Given the description of an element on the screen output the (x, y) to click on. 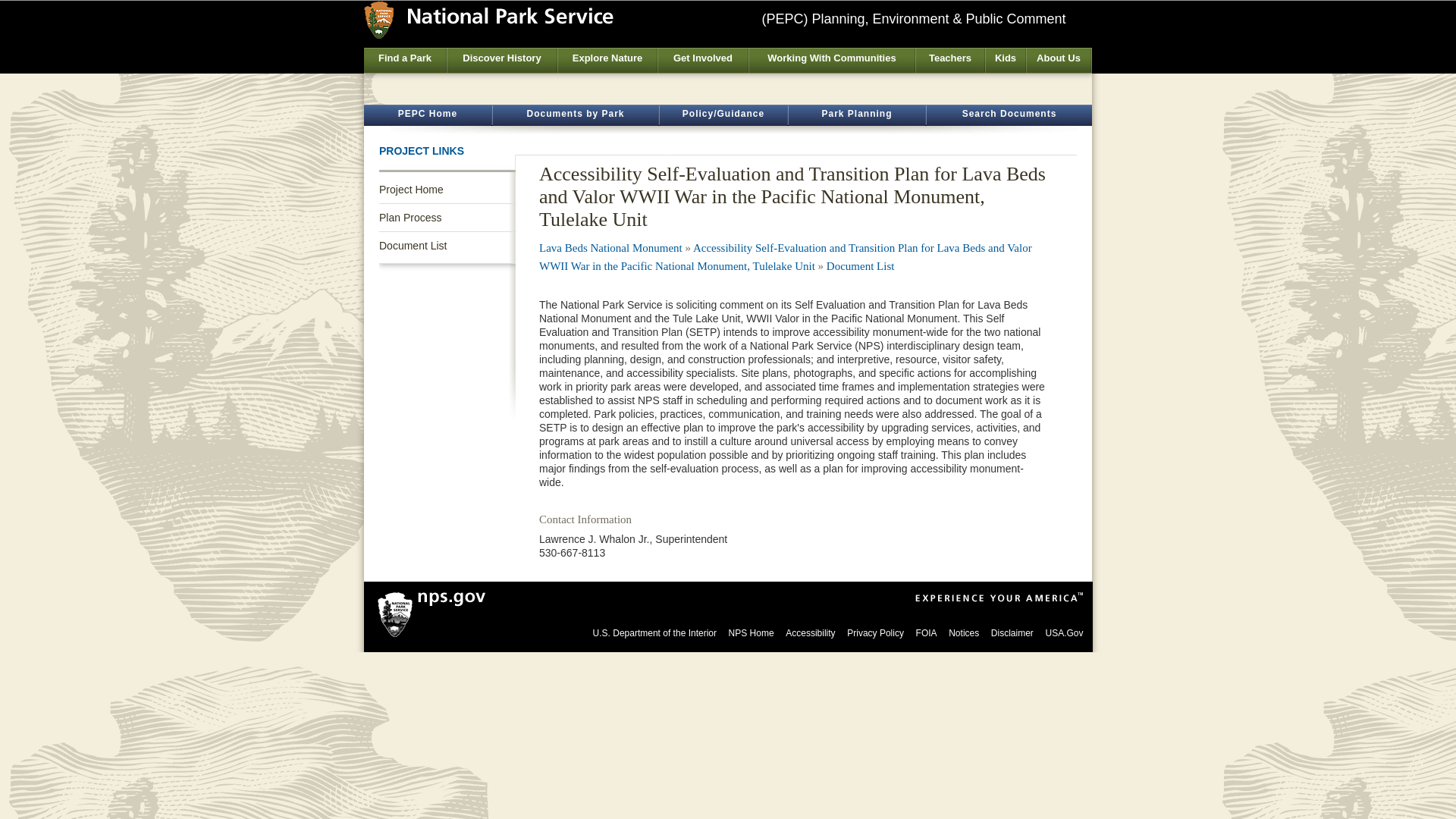
Get Involved (703, 60)
U.S. Department of the Interior (654, 633)
Lava Beds National Monument (610, 247)
Discover History (501, 60)
Freedom of Information Act (926, 633)
Find a Park (404, 60)
Working With Communities (831, 60)
Teachers (949, 60)
Document List (446, 245)
NPS Home (751, 633)
Privacy Policy (875, 633)
Document List (861, 265)
Project Home (446, 189)
FOIA (926, 633)
Policy and guidance links (723, 115)
